Given the description of an element on the screen output the (x, y) to click on. 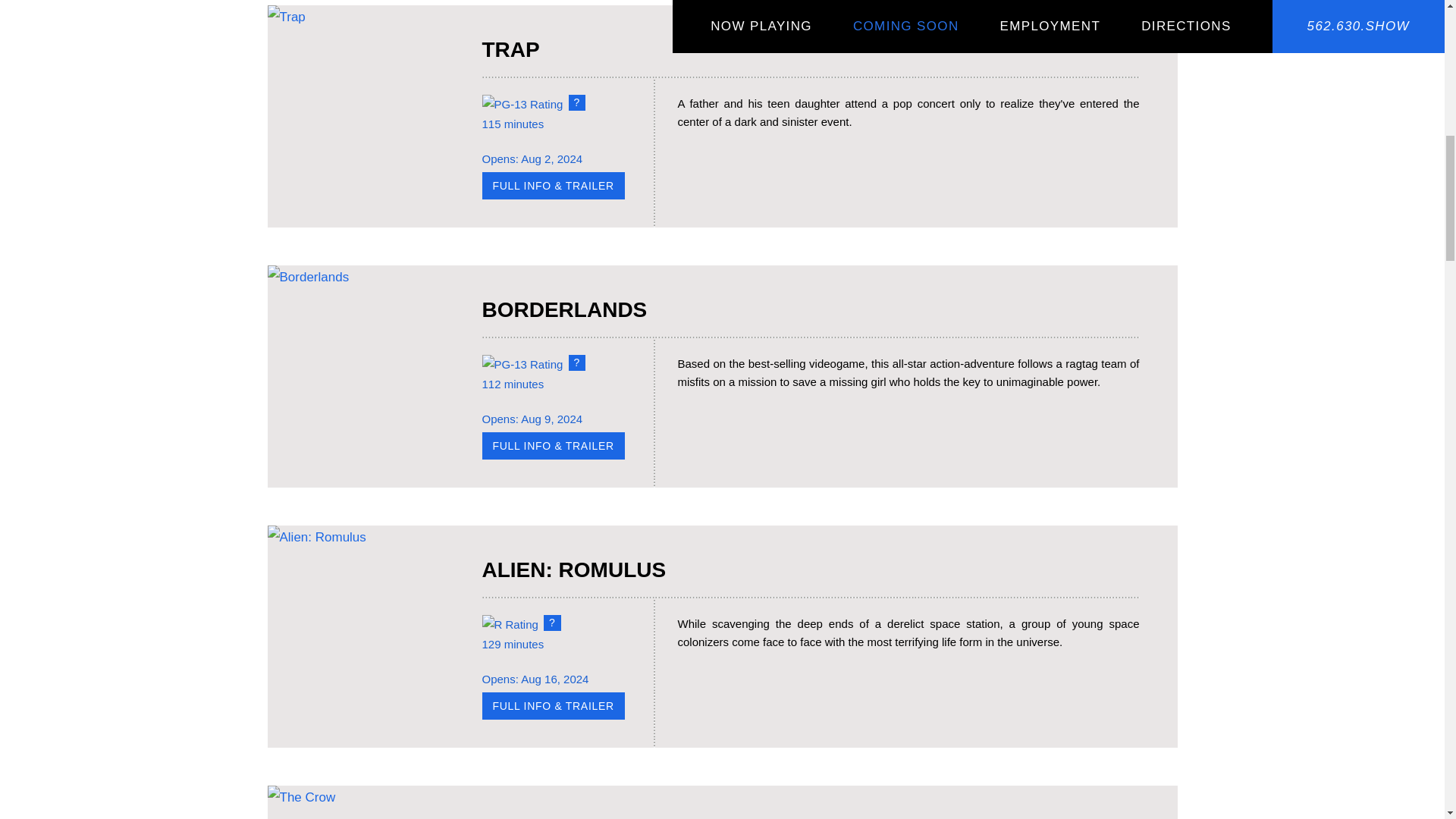
? (577, 362)
? (551, 622)
? (577, 102)
Rated R for bloody violent content and language. (551, 622)
